Given the description of an element on the screen output the (x, y) to click on. 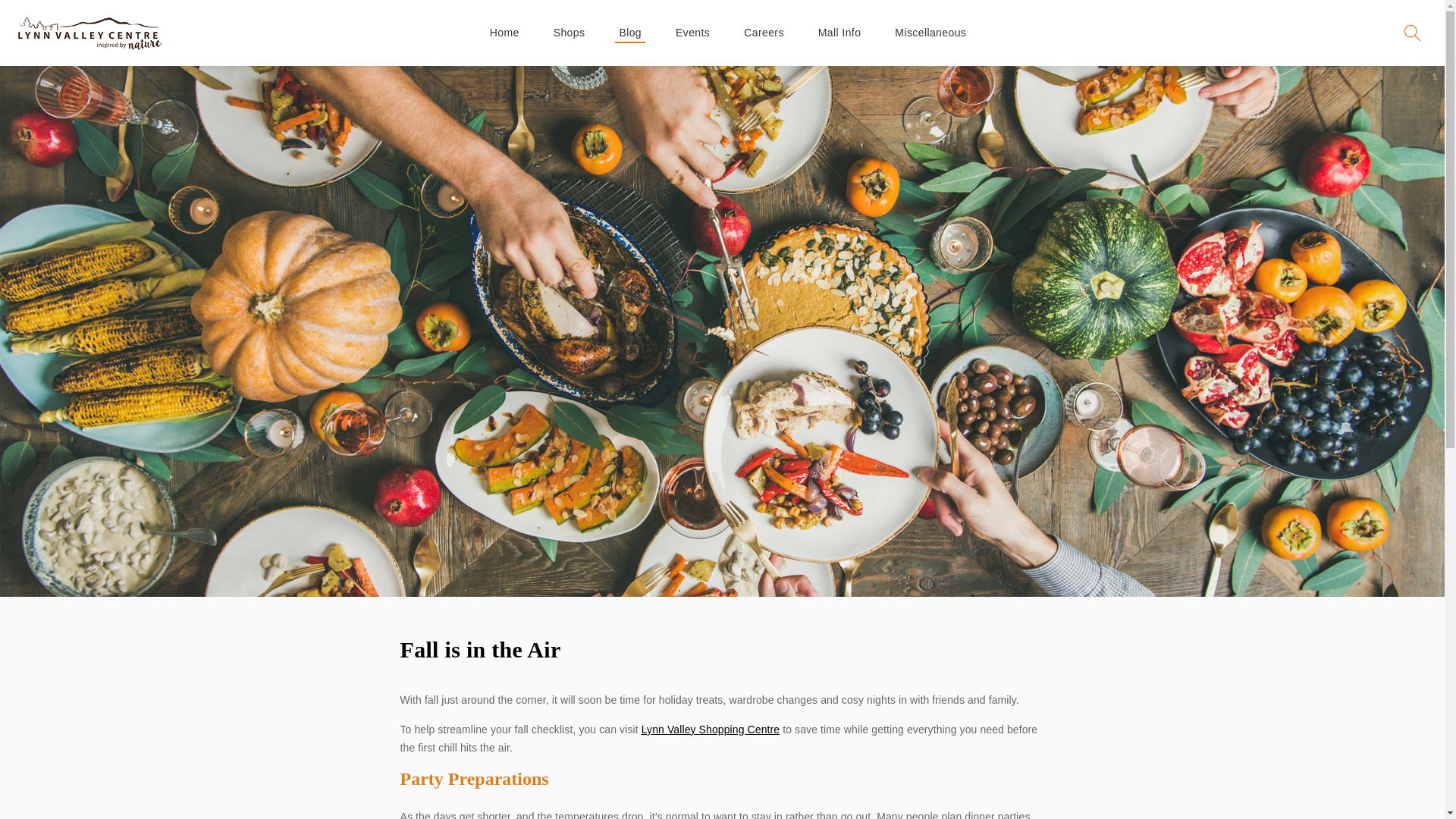
Mall Info (838, 32)
Miscellaneous (930, 32)
Events (692, 32)
Lynn Valley Shopping Centre (711, 729)
Blog (629, 32)
Shops (569, 32)
Home (504, 32)
Lynn Valley Centre (88, 32)
Careers (763, 32)
